Given the description of an element on the screen output the (x, y) to click on. 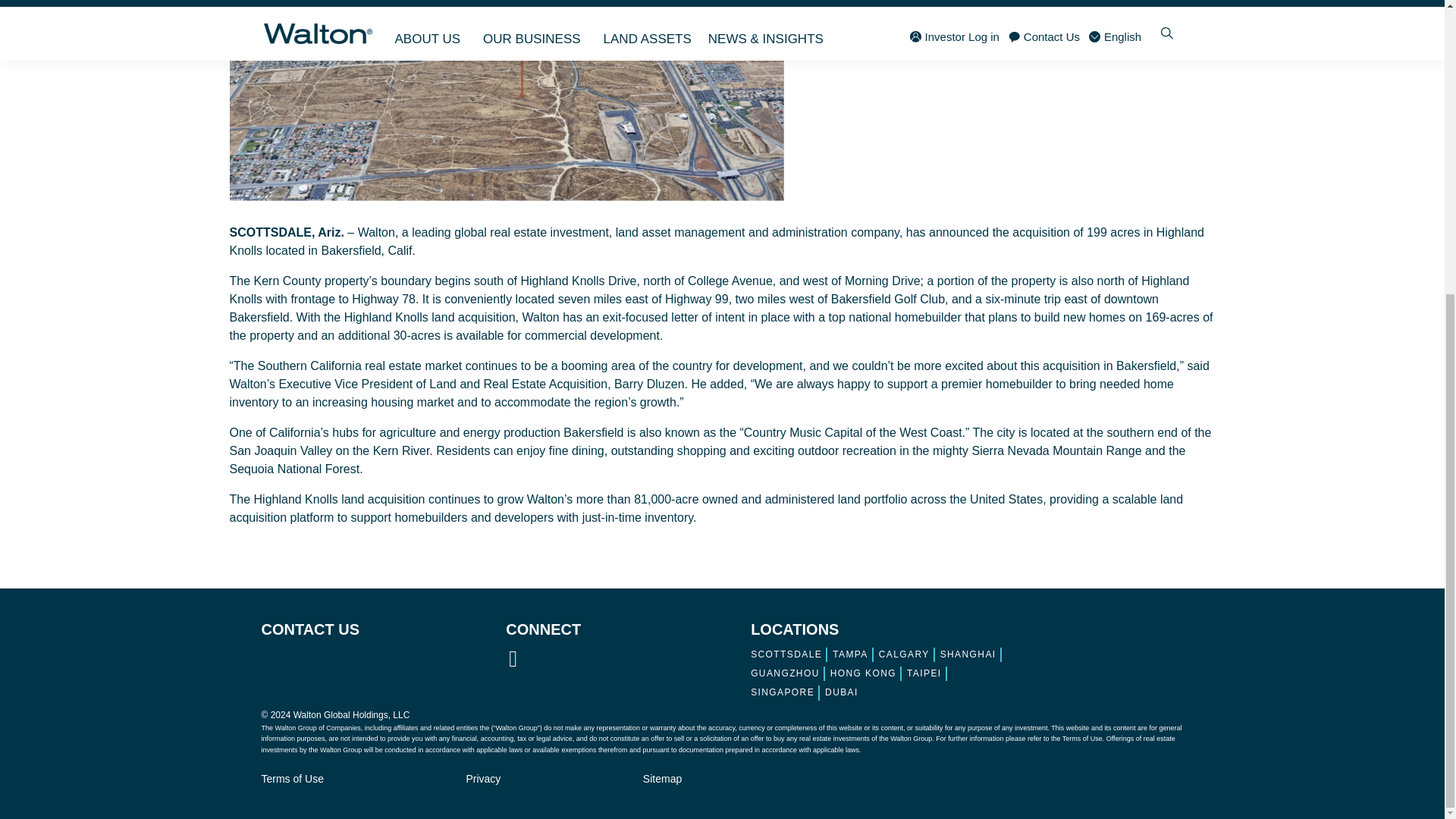
Highland Knolls (505, 100)
